Given the description of an element on the screen output the (x, y) to click on. 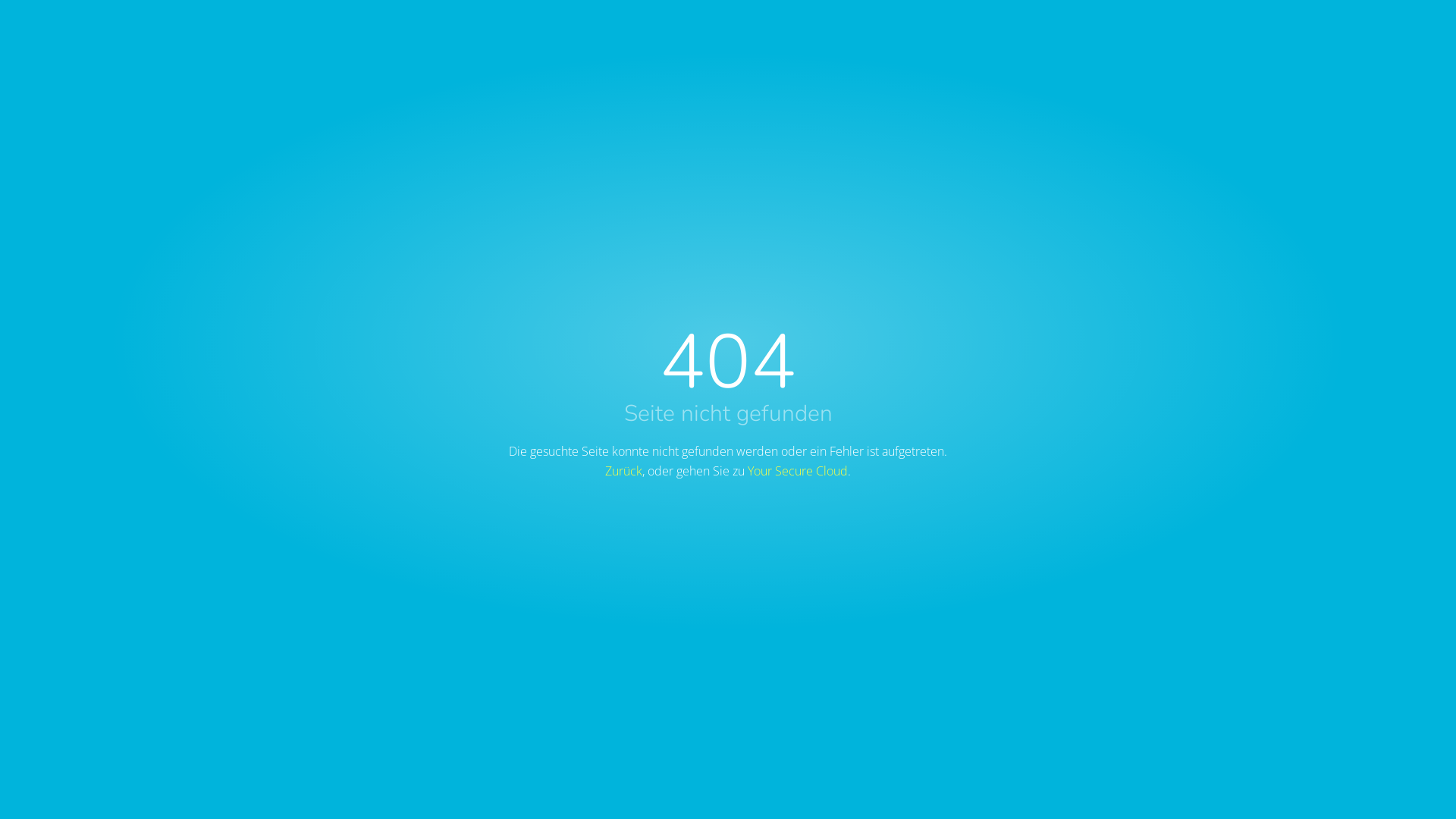
Your Secure Cloud Element type: text (797, 470)
